Given the description of an element on the screen output the (x, y) to click on. 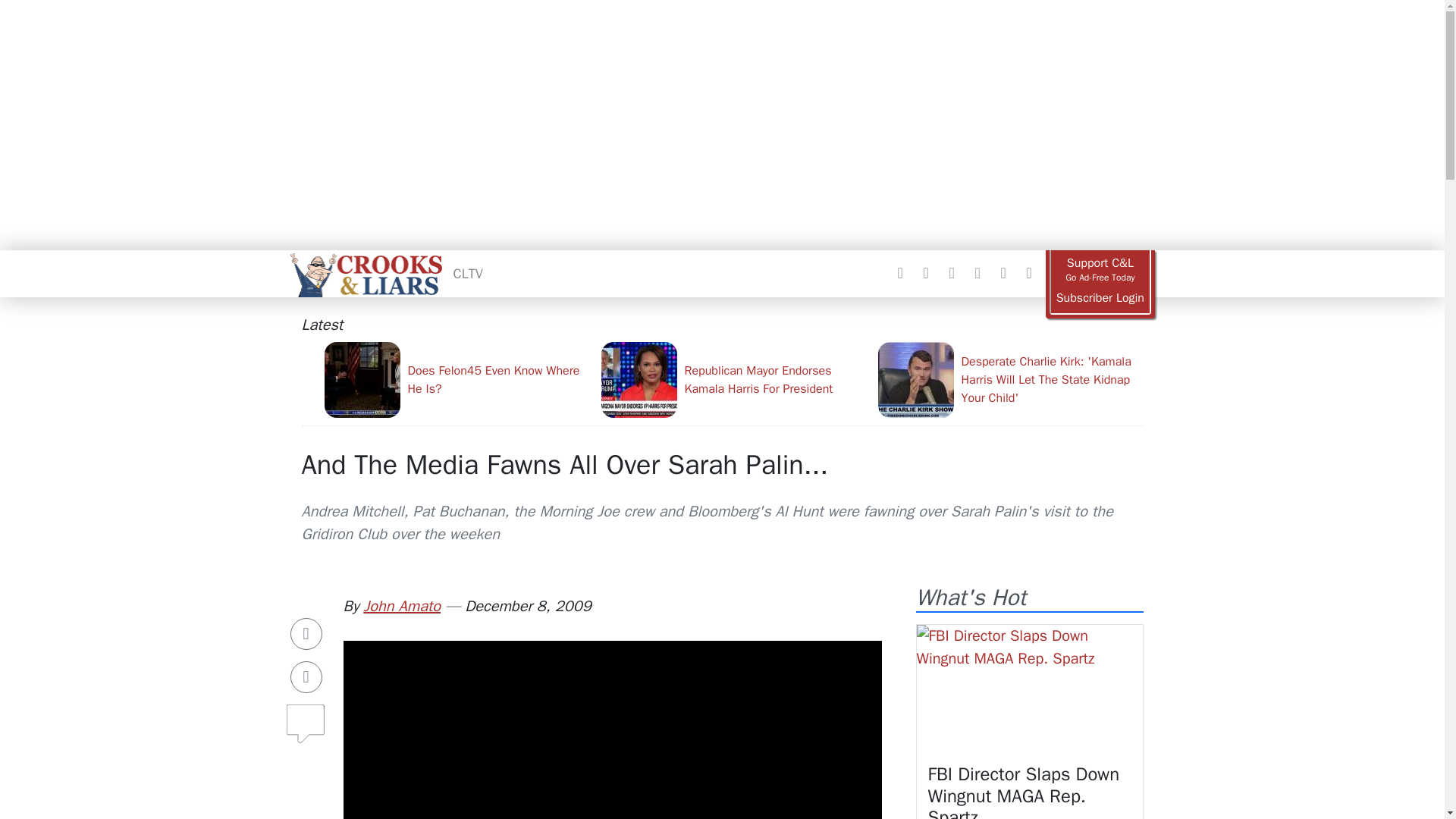
Does Felon45 Even Know Where He Is? (456, 379)
Republican Mayor Endorses Kamala Harris For President (732, 379)
John Amato (401, 606)
Comments (306, 717)
Login to your ad free account (1099, 298)
FBI Director Slaps Down Wingnut MAGA Rep. Spartz (1028, 688)
CLTV (467, 273)
Go ad free today! (1099, 270)
Share on Twitter (306, 676)
Does Felon45 Even Know Where He Is?  (456, 379)
FBI Director Slaps Down Wingnut MAGA Rep. Spartz (1023, 790)
Republican Mayor Endorses Kamala Harris For President (732, 379)
Subscriber Login (1099, 298)
